Given the description of an element on the screen output the (x, y) to click on. 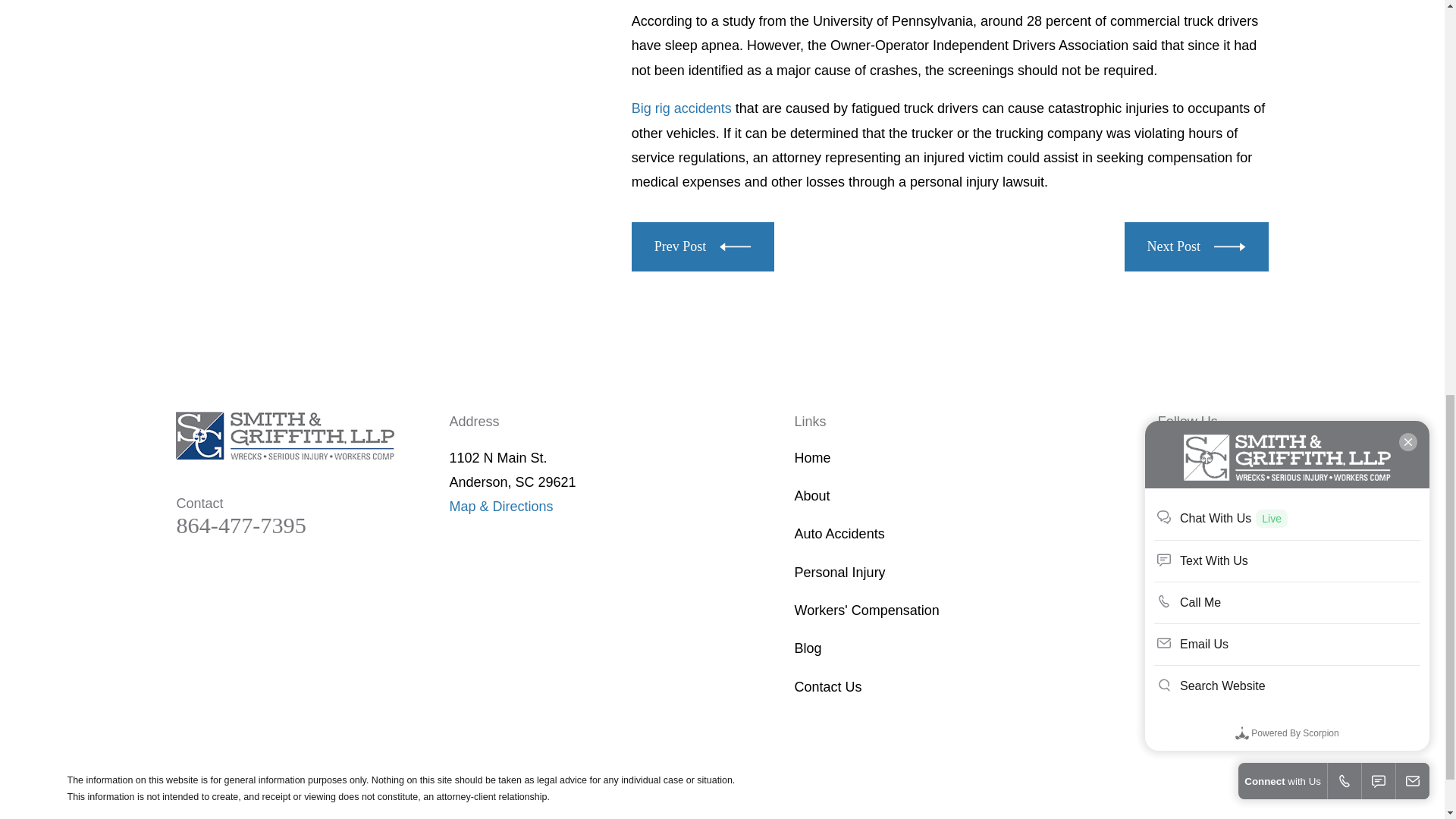
Twitter (1213, 460)
Home (285, 435)
LinkedIn (1253, 460)
Facebook (1172, 460)
